Given the description of an element on the screen output the (x, y) to click on. 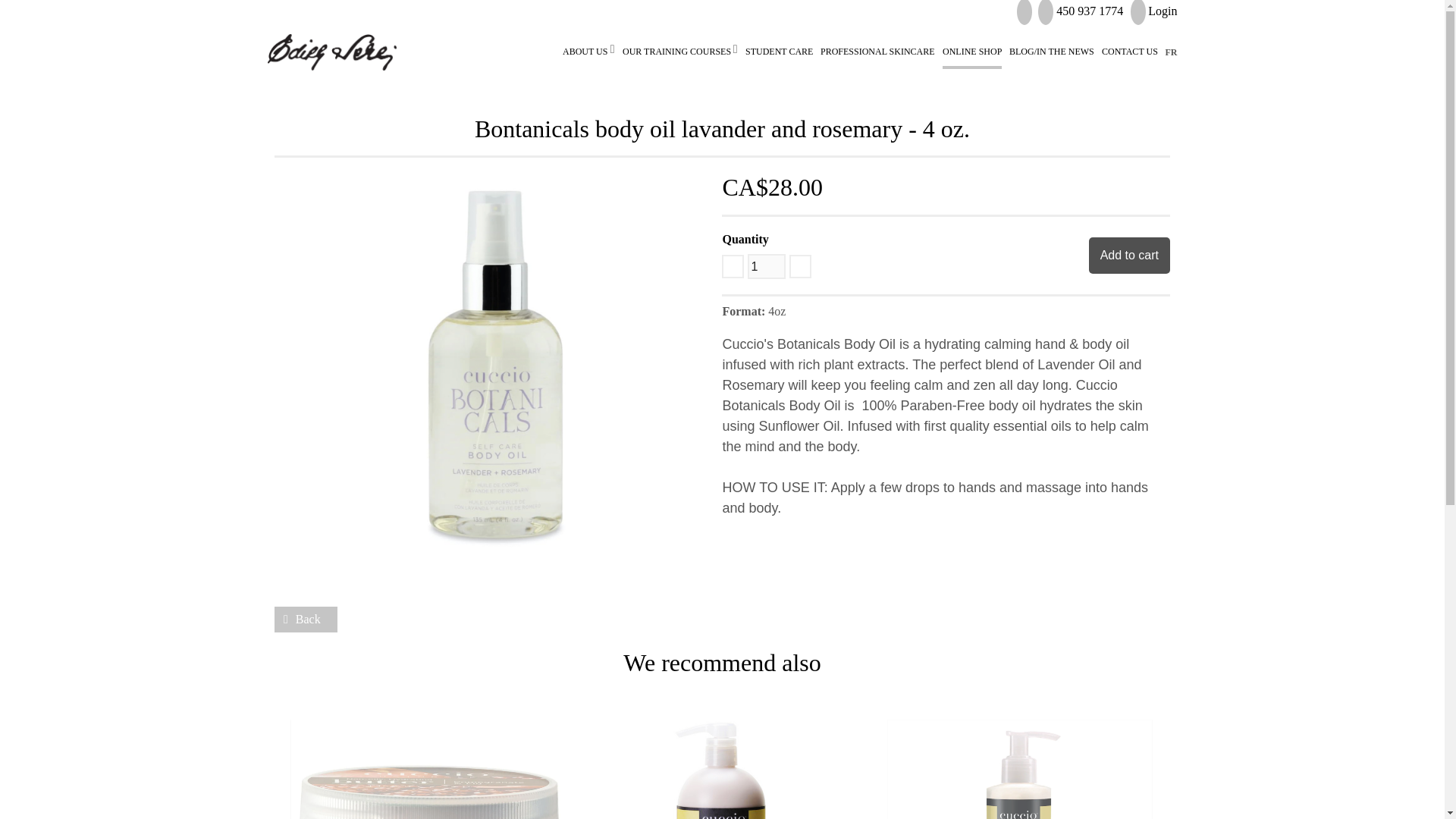
450 937 1774 (1089, 10)
Login (1153, 11)
CONTACT US (1129, 51)
FR (1170, 51)
Add to cart (1129, 255)
1 (766, 266)
PROFESSIONAL SKINCARE (877, 51)
STUDENT CARE (778, 51)
ONLINE SHOP (971, 51)
ABOUT US (584, 51)
Back (306, 619)
OUR TRAINING COURSES (676, 51)
